Given the description of an element on the screen output the (x, y) to click on. 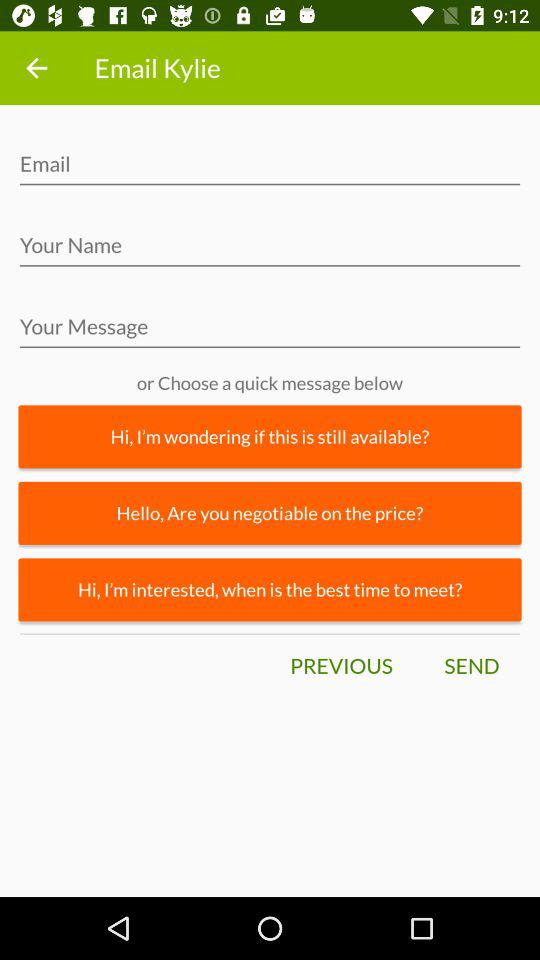
choose the icon to the right of the previous icon (471, 666)
